Given the description of an element on the screen output the (x, y) to click on. 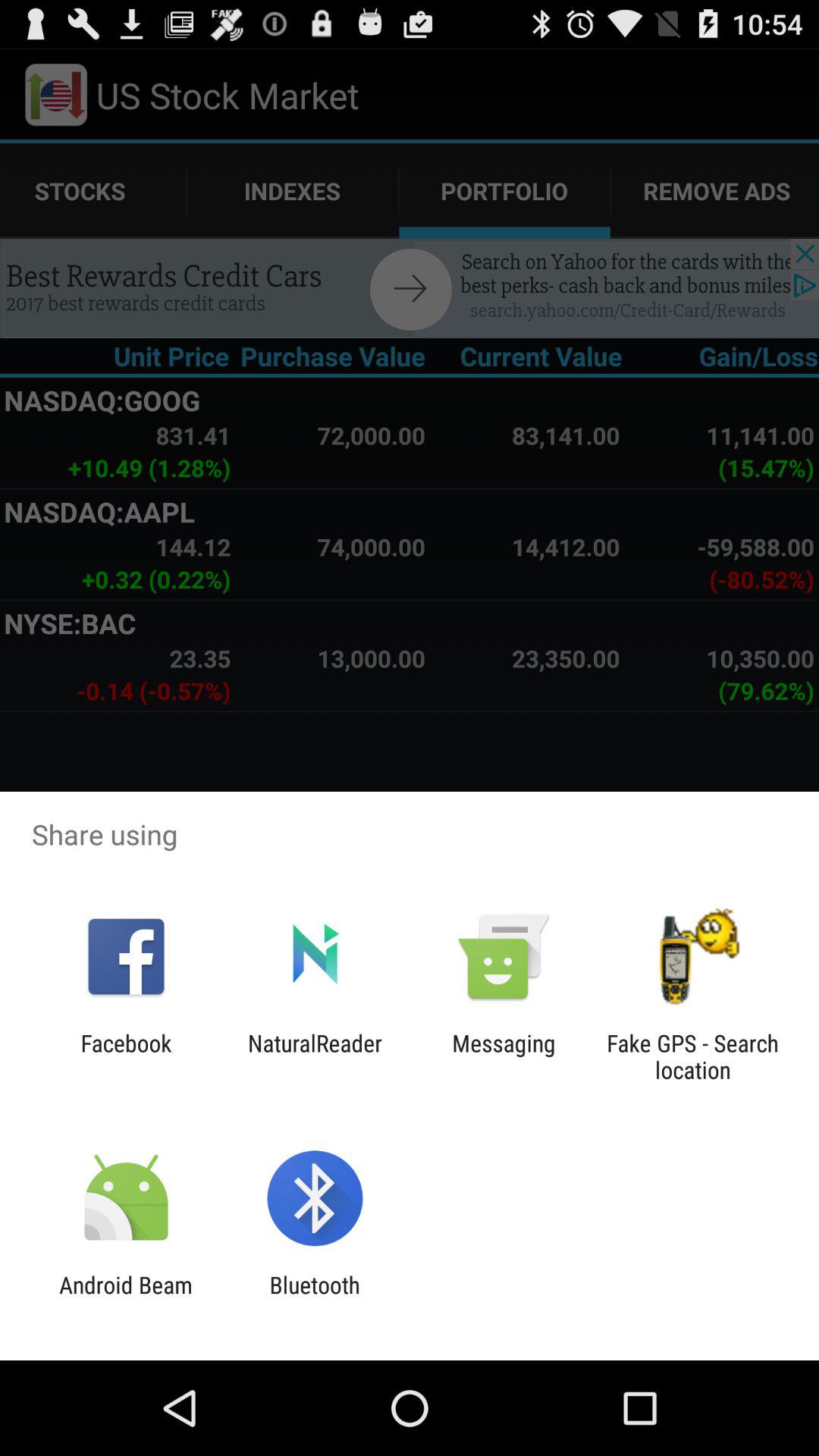
tap icon to the right of the facebook item (314, 1056)
